Given the description of an element on the screen output the (x, y) to click on. 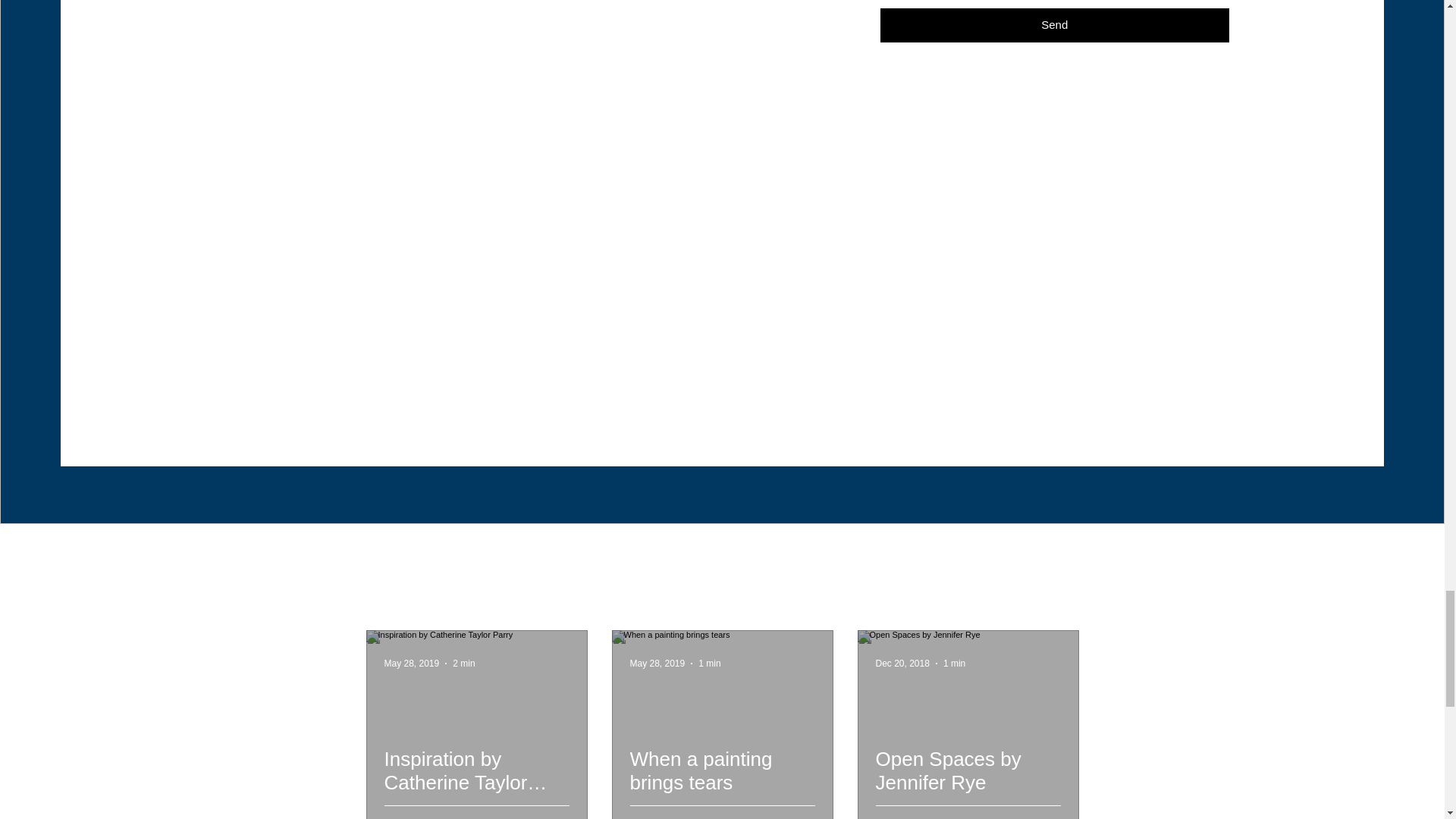
1 min (954, 663)
2 min (463, 663)
0 (803, 818)
1 min (445, 818)
Inspiration by Catherine Taylor Parry (709, 663)
May 28, 2019 (476, 782)
Send (1048, 818)
0 (656, 663)
When a painting brings tears (1054, 25)
0 (690, 818)
Dec 20, 2018 (720, 782)
May 28, 2019 (936, 818)
Open Spaces by Jennifer Rye (901, 663)
